Given the description of an element on the screen output the (x, y) to click on. 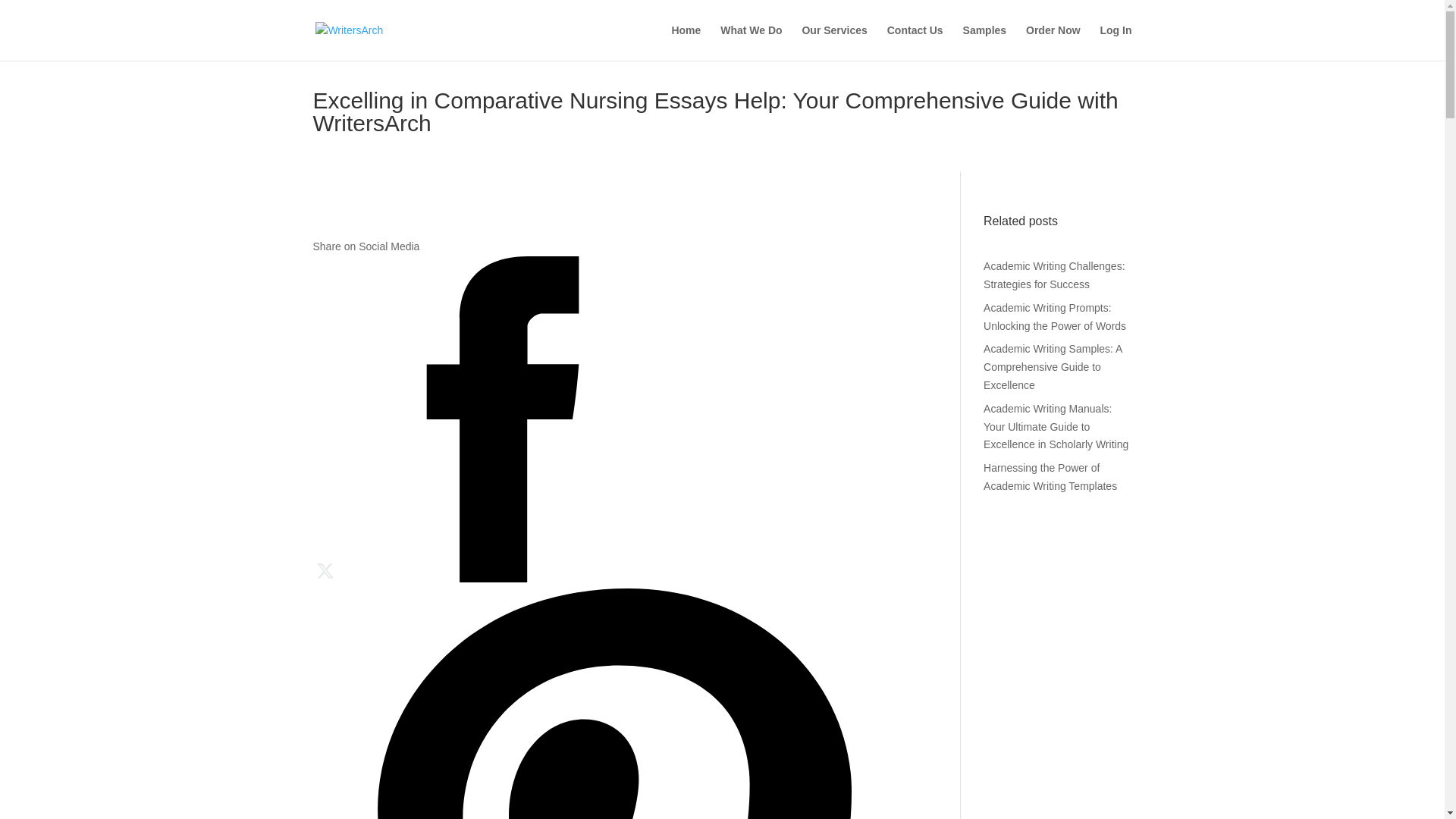
Samples (984, 42)
Order Now (1053, 42)
Our Services (834, 42)
Log In (1115, 42)
Contact Us (914, 42)
Academic Writing Challenges: Strategies for Success (1054, 275)
What We Do (750, 42)
Academic Writing Prompts: Unlocking the Power of Words (1054, 317)
Harnessing the Power of Academic Writing Templates (1050, 476)
